Given the description of an element on the screen output the (x, y) to click on. 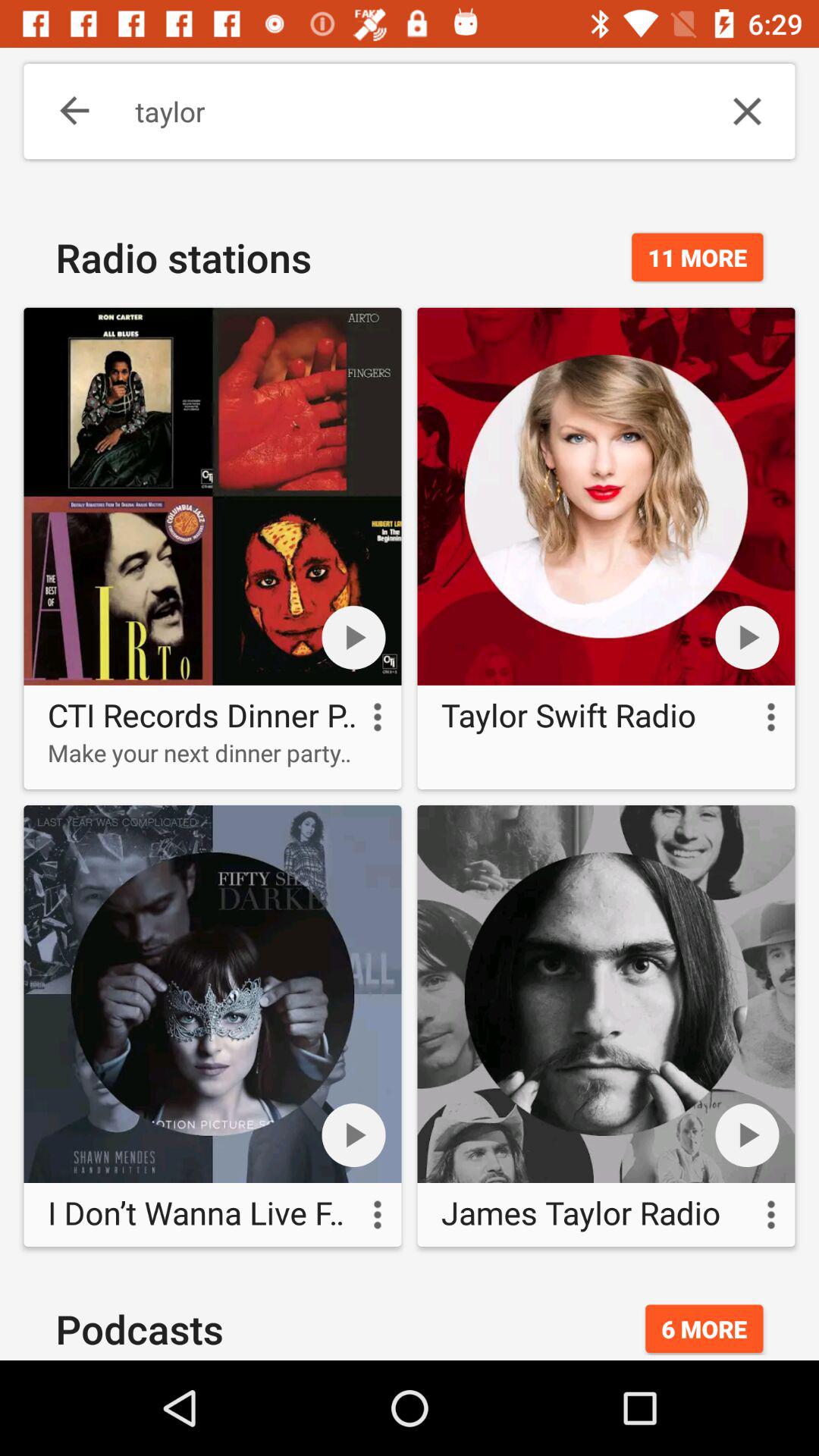
turn on the item to the right of taylor item (747, 111)
